Given the description of an element on the screen output the (x, y) to click on. 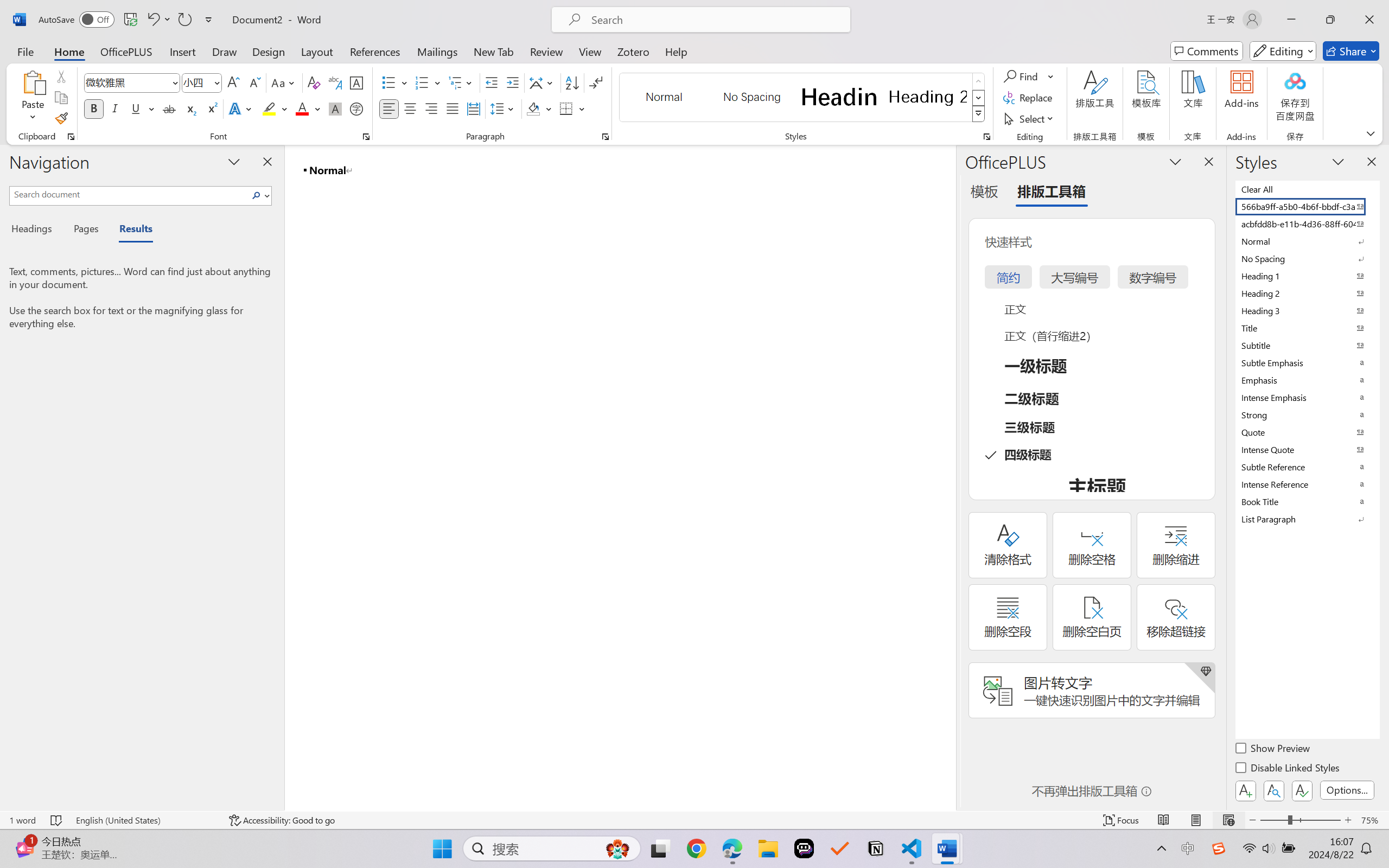
Increase Indent (512, 82)
Search (259, 195)
Clear All (1306, 188)
AutomationID: QuickStylesGallery (802, 97)
Paragraph... (605, 136)
Find (1029, 75)
Disable Linked Styles (1287, 769)
Task Pane Options (1175, 161)
Layout (316, 51)
Class: NetUIScrollBar (948, 477)
Share (1350, 51)
Results (130, 229)
Insert (182, 51)
Class: NetUIButton (1301, 790)
